Given the description of an element on the screen output the (x, y) to click on. 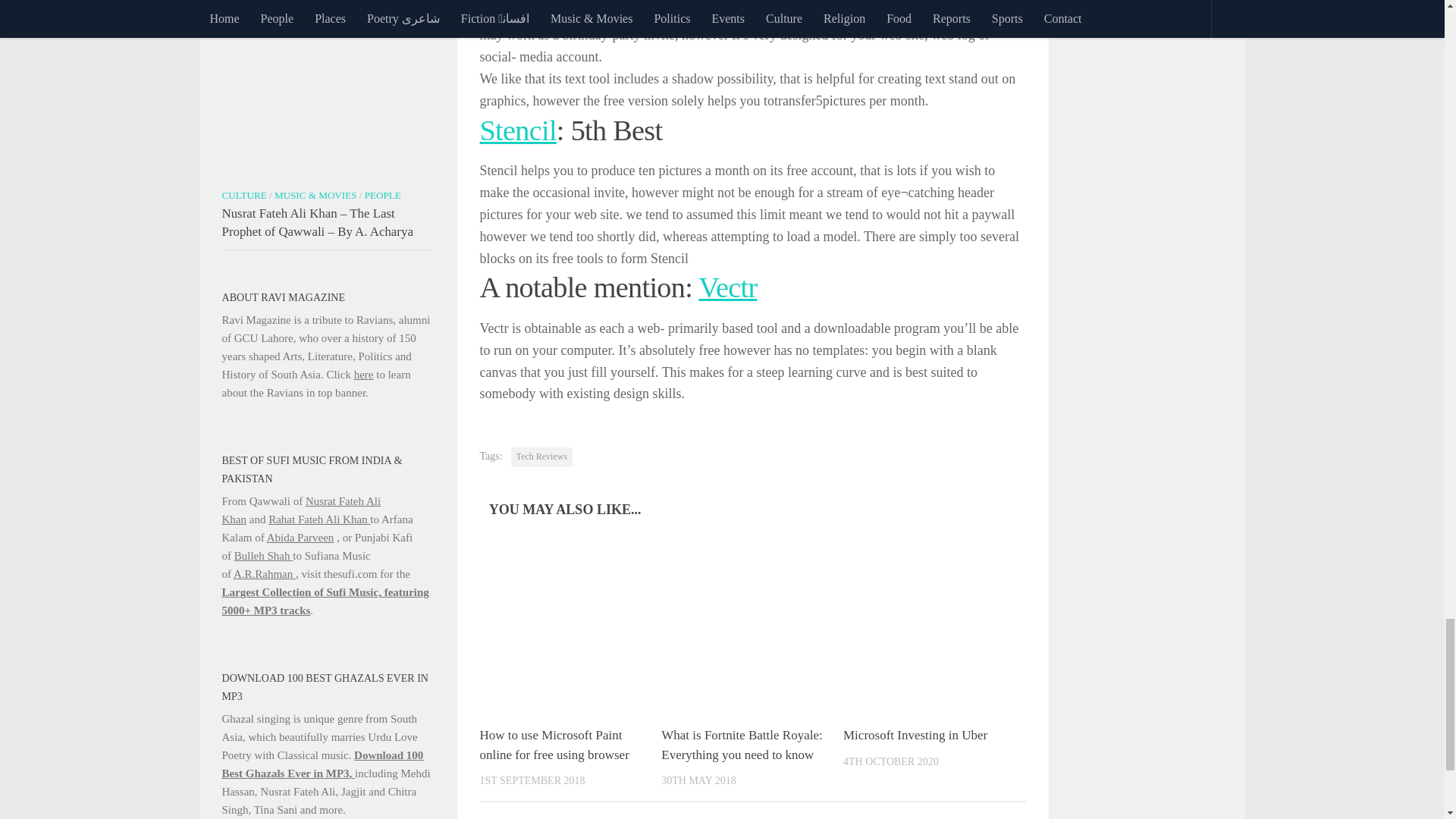
Microsoft Investing in Uber (915, 735)
Stencil (517, 130)
How to use Microsoft Paint online for free using browser (553, 745)
Vectr (727, 287)
Tech Reviews (541, 456)
What is Fortnite Battle Royale: Everything you need to know (741, 745)
